Given the description of an element on the screen output the (x, y) to click on. 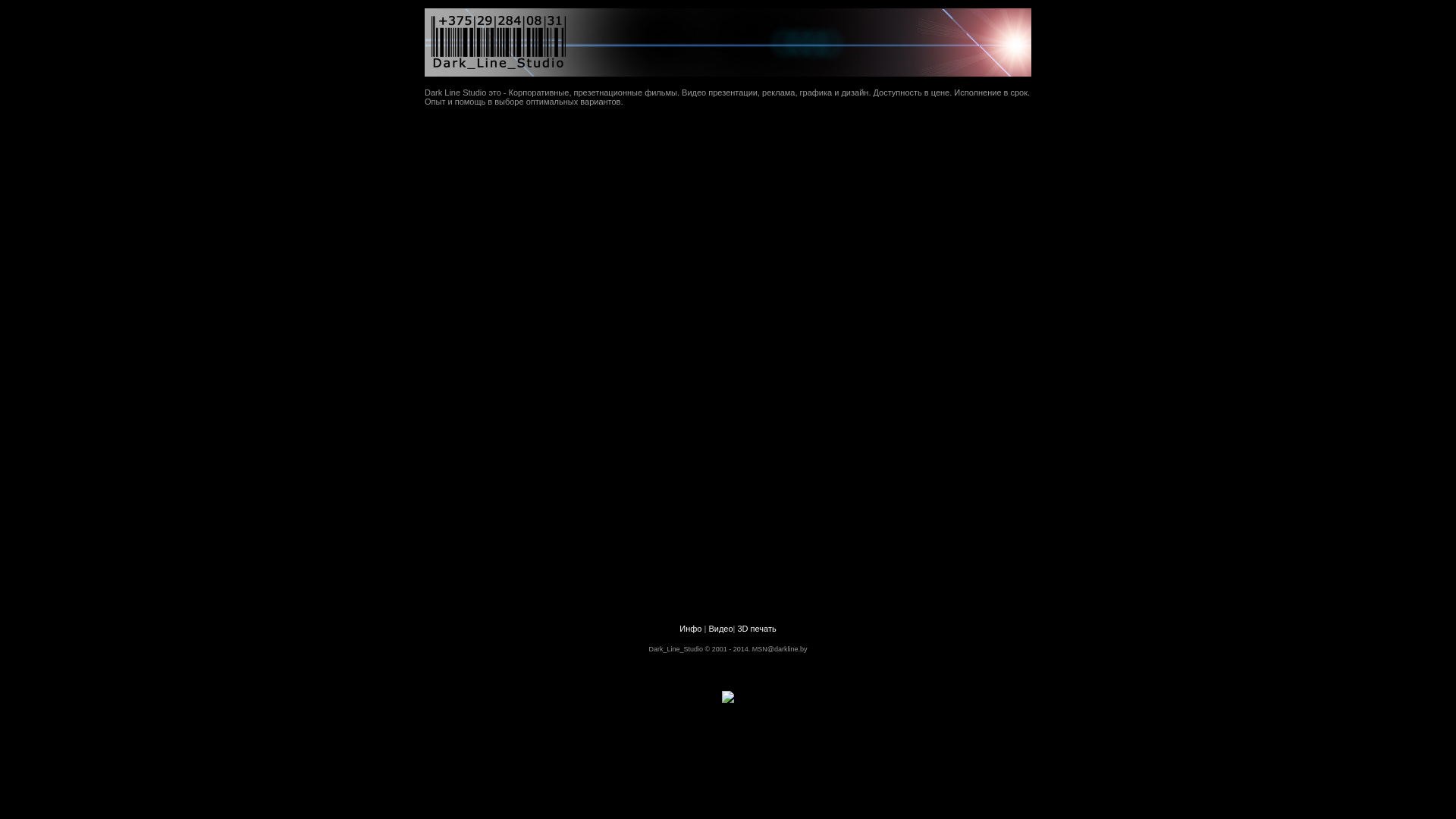
Dark_line_Studio Element type: hover (727, 71)
